Given the description of an element on the screen output the (x, y) to click on. 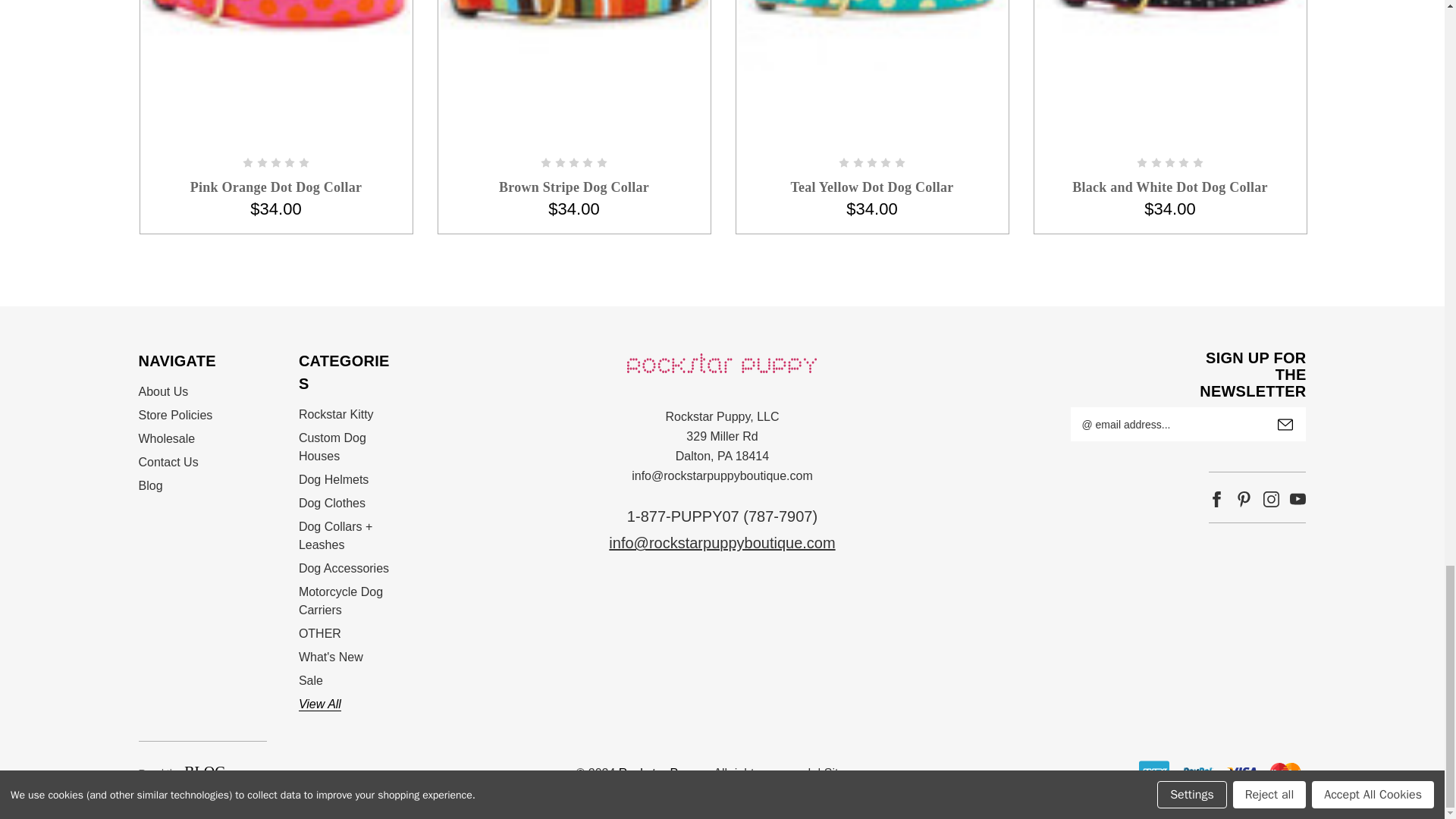
Teal Yellow Dot Dog Collar (872, 35)
Brown Stripe Dog Collar (573, 39)
Black and White Dot Dog Collar (1169, 37)
Pink Orange Dot Dog Collar (276, 37)
